Given the description of an element on the screen output the (x, y) to click on. 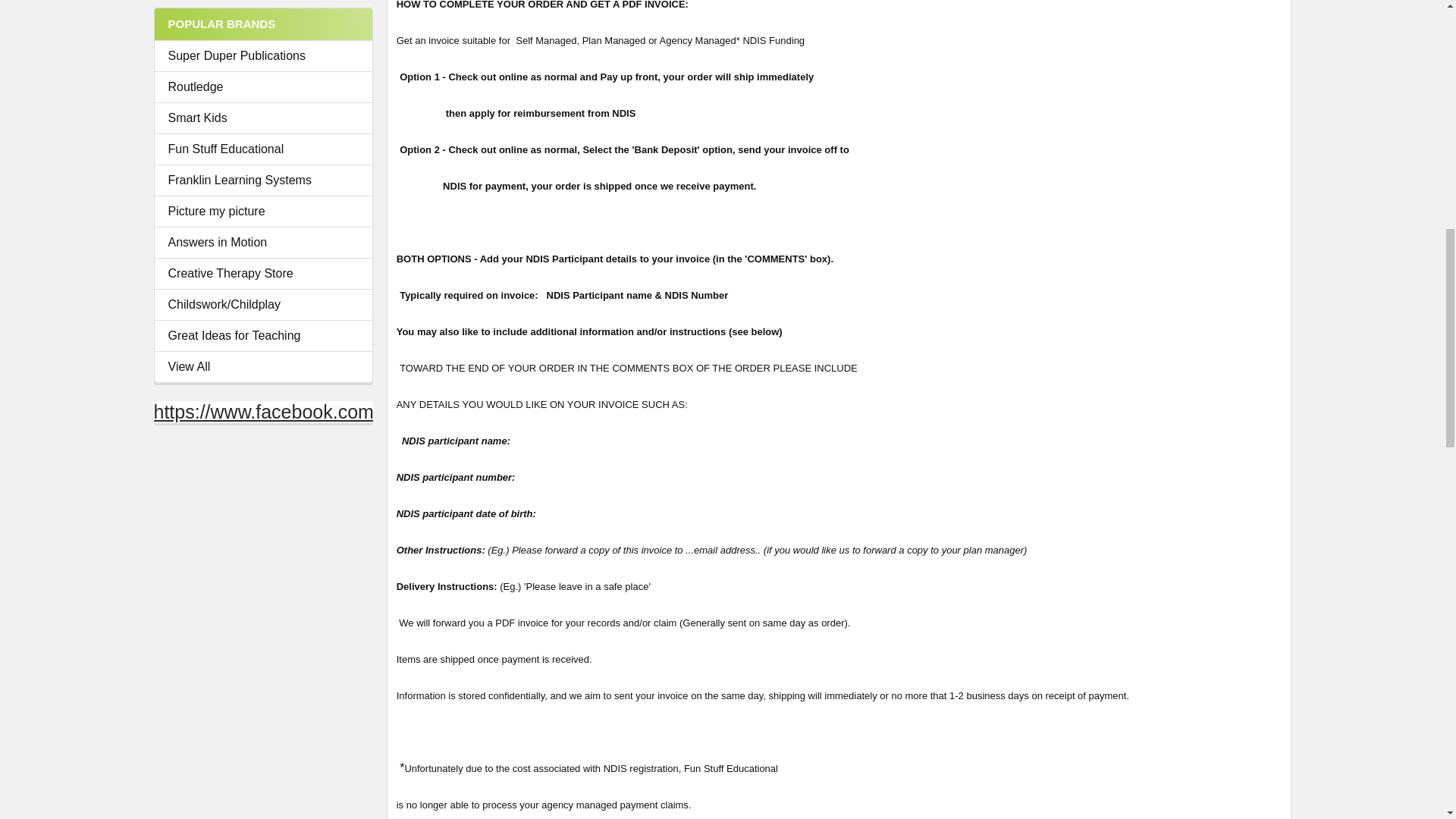
Super Duper Publications (263, 55)
Fun Stuff Educational (263, 149)
Picture my picture (263, 211)
Creative Therapy Store (263, 273)
Routledge (263, 86)
Answers in Motion (263, 242)
Great Ideas for Teaching (263, 335)
Smart Kids (263, 117)
Franklin Learning Systems (263, 180)
